Given the description of an element on the screen output the (x, y) to click on. 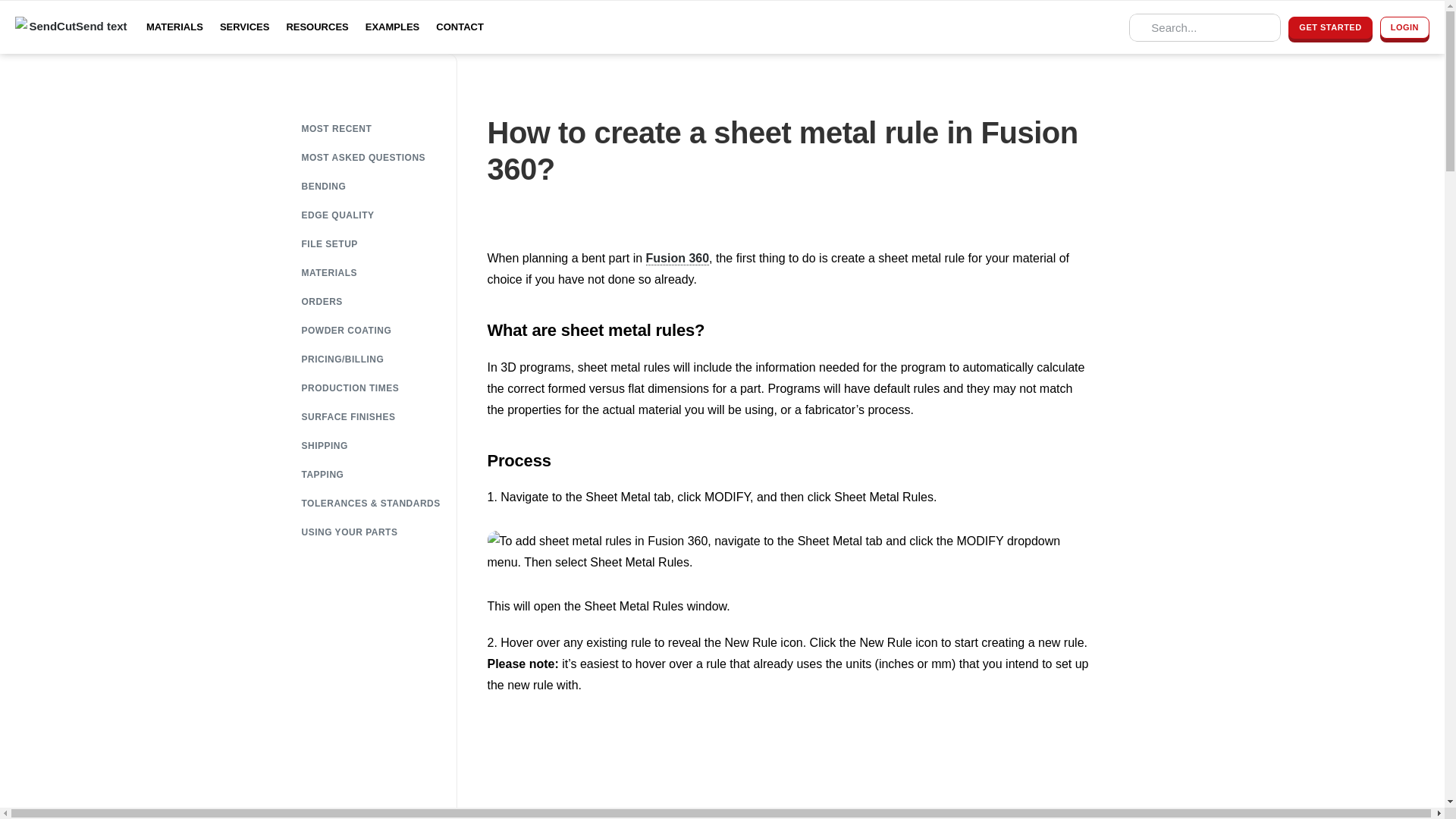
Search (1205, 27)
SERVICES (244, 27)
MATERIALS (175, 27)
